Given the description of an element on the screen output the (x, y) to click on. 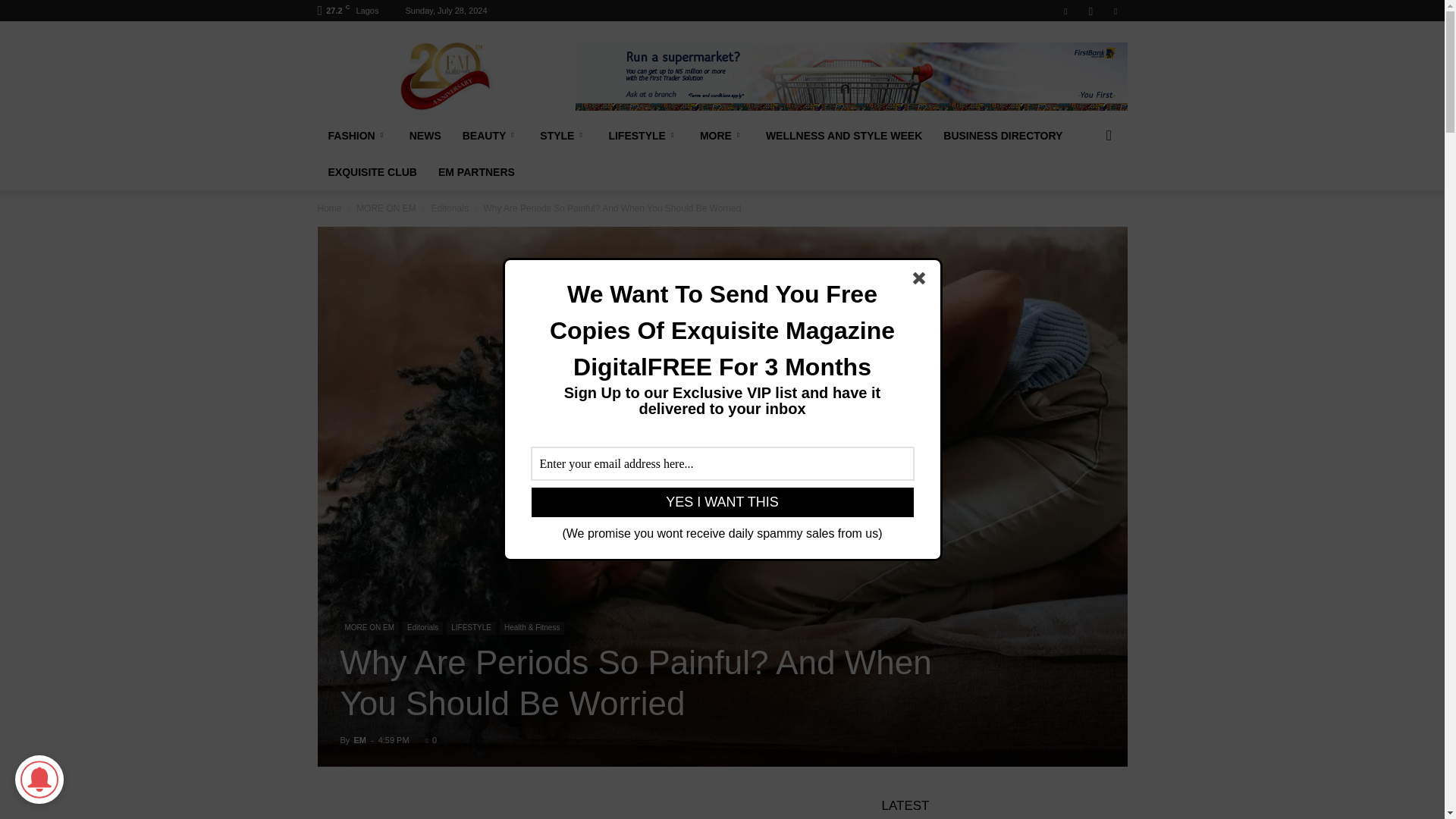
Instagram (1090, 10)
Twitter (1114, 10)
Yes i want this (721, 501)
View all posts in MORE ON EM (386, 208)
View all posts in Editorials (448, 208)
Facebook (1065, 10)
